Given the description of an element on the screen output the (x, y) to click on. 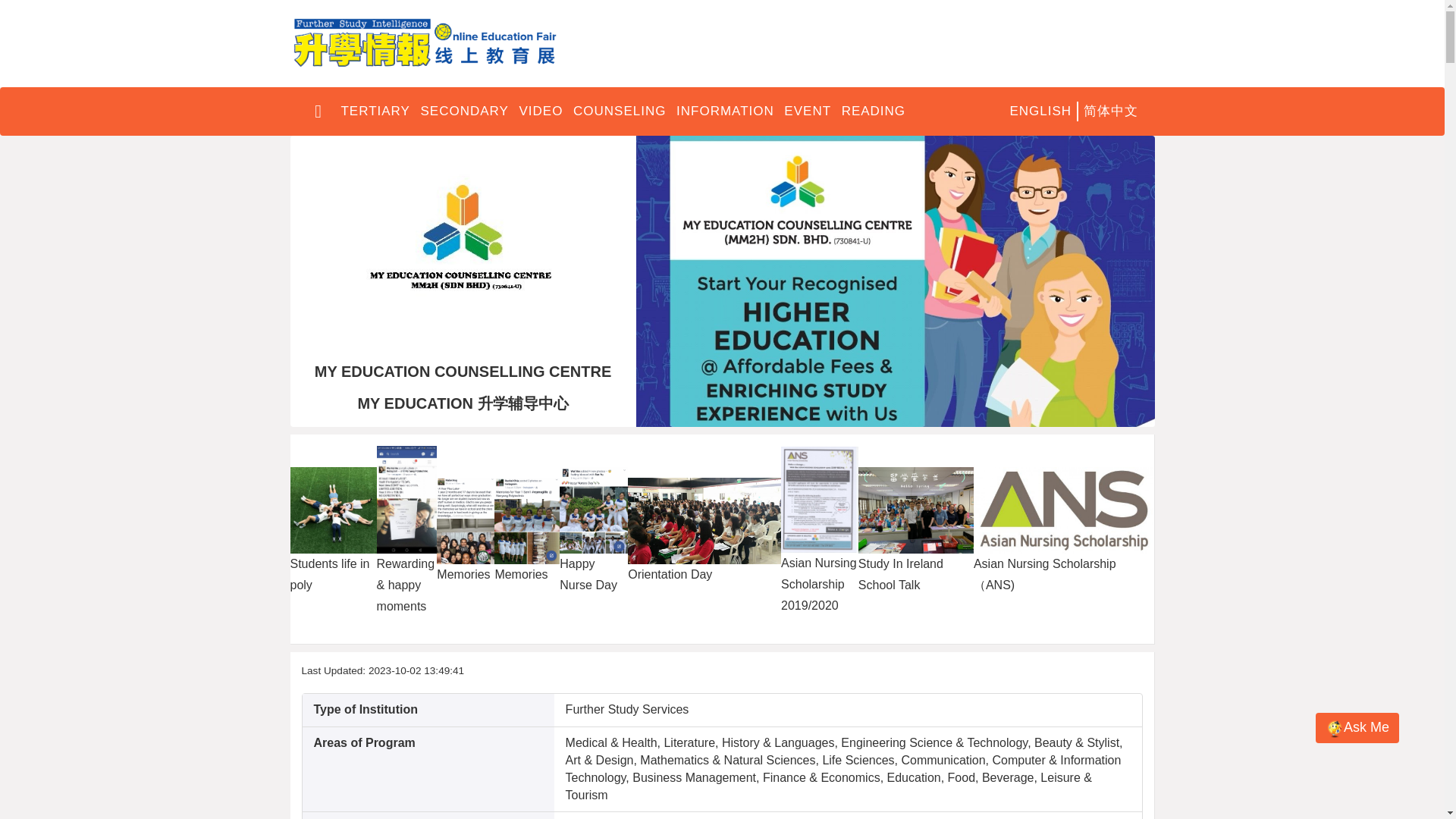
Students life in poly (332, 509)
Orientation Day (703, 520)
TERTIARY (375, 110)
SECONDARY (463, 110)
Memories (465, 520)
INFORMATION (724, 110)
ENGLISH (1040, 110)
READING (873, 110)
VIDEO (541, 110)
Study In Ireland School Talk (916, 509)
EVENT (806, 110)
Happy Nurse Day (593, 509)
MY EDUCATION COUNSELLING CENTRE (463, 245)
COUNSELING (619, 110)
